Given the description of an element on the screen output the (x, y) to click on. 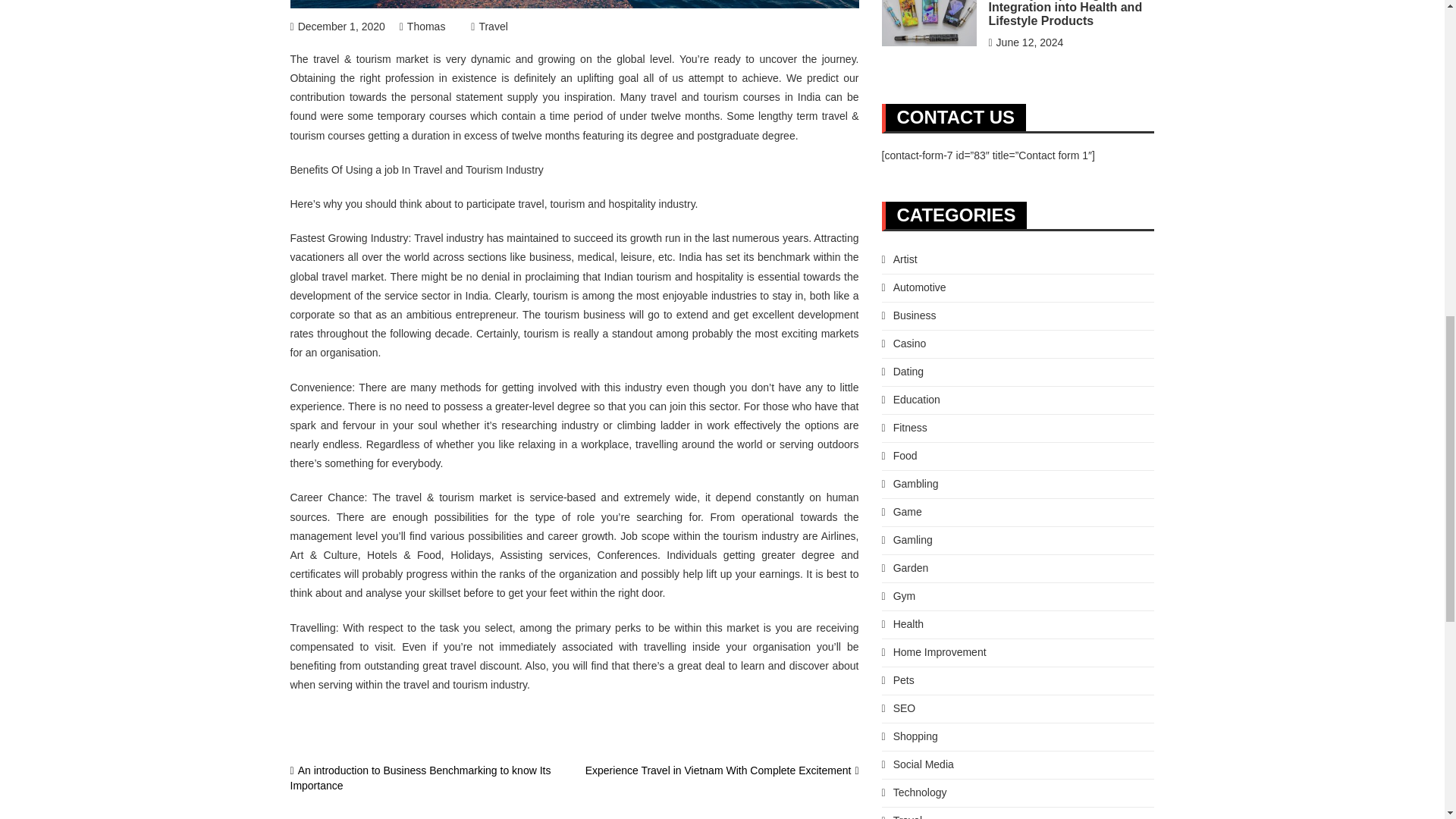
Thomas (421, 26)
Experience Travel in Vietnam With Complete Excitement (722, 770)
Travel (489, 27)
December 1, 2020 (336, 26)
